Given the description of an element on the screen output the (x, y) to click on. 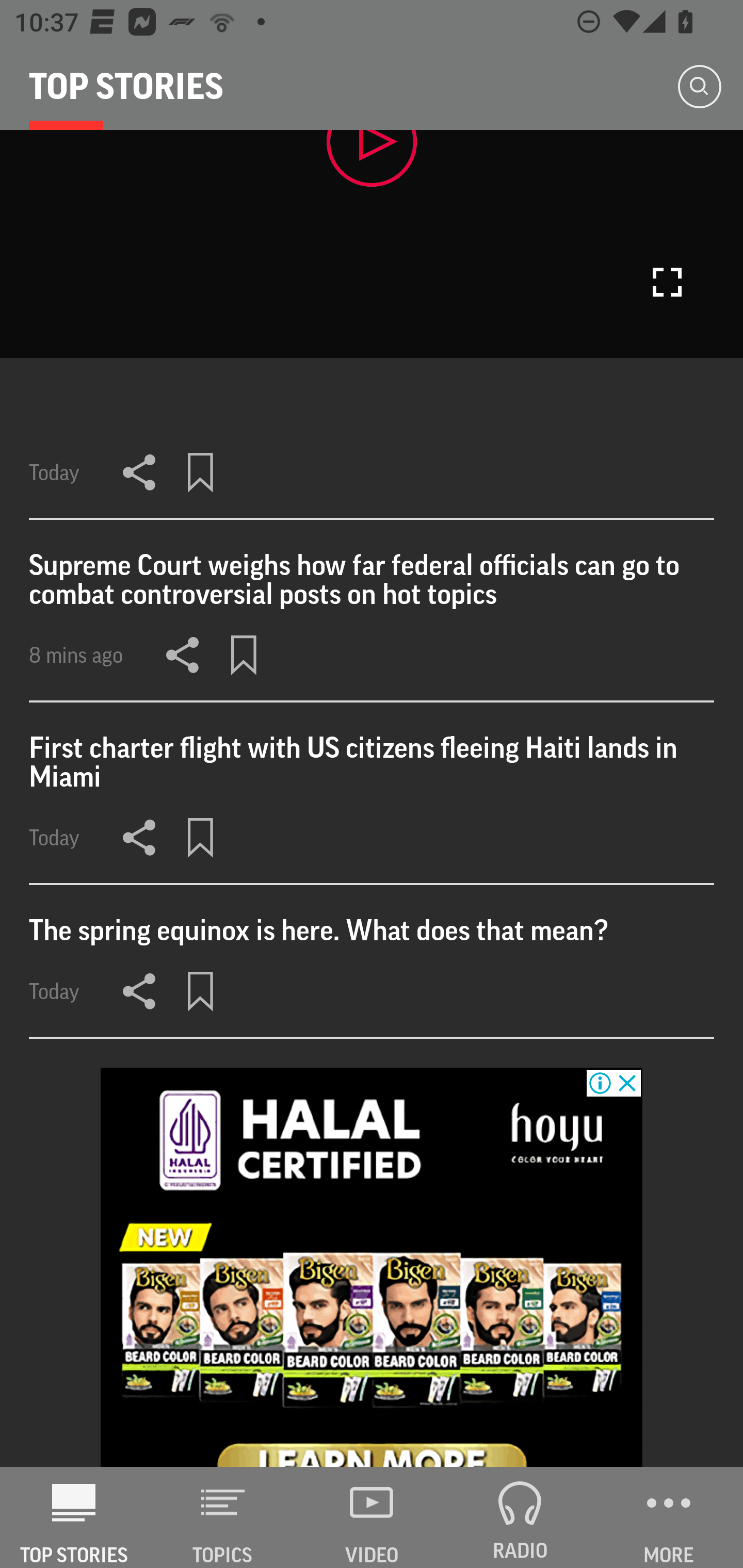
toggle controls Play Fullscreen Today (371, 325)
Play (371, 158)
Fullscreen (666, 282)
28 (371, 1267)
AP News TOP STORIES (74, 1517)
TOPICS (222, 1517)
VIDEO (371, 1517)
RADIO (519, 1517)
MORE (668, 1517)
